Given the description of an element on the screen output the (x, y) to click on. 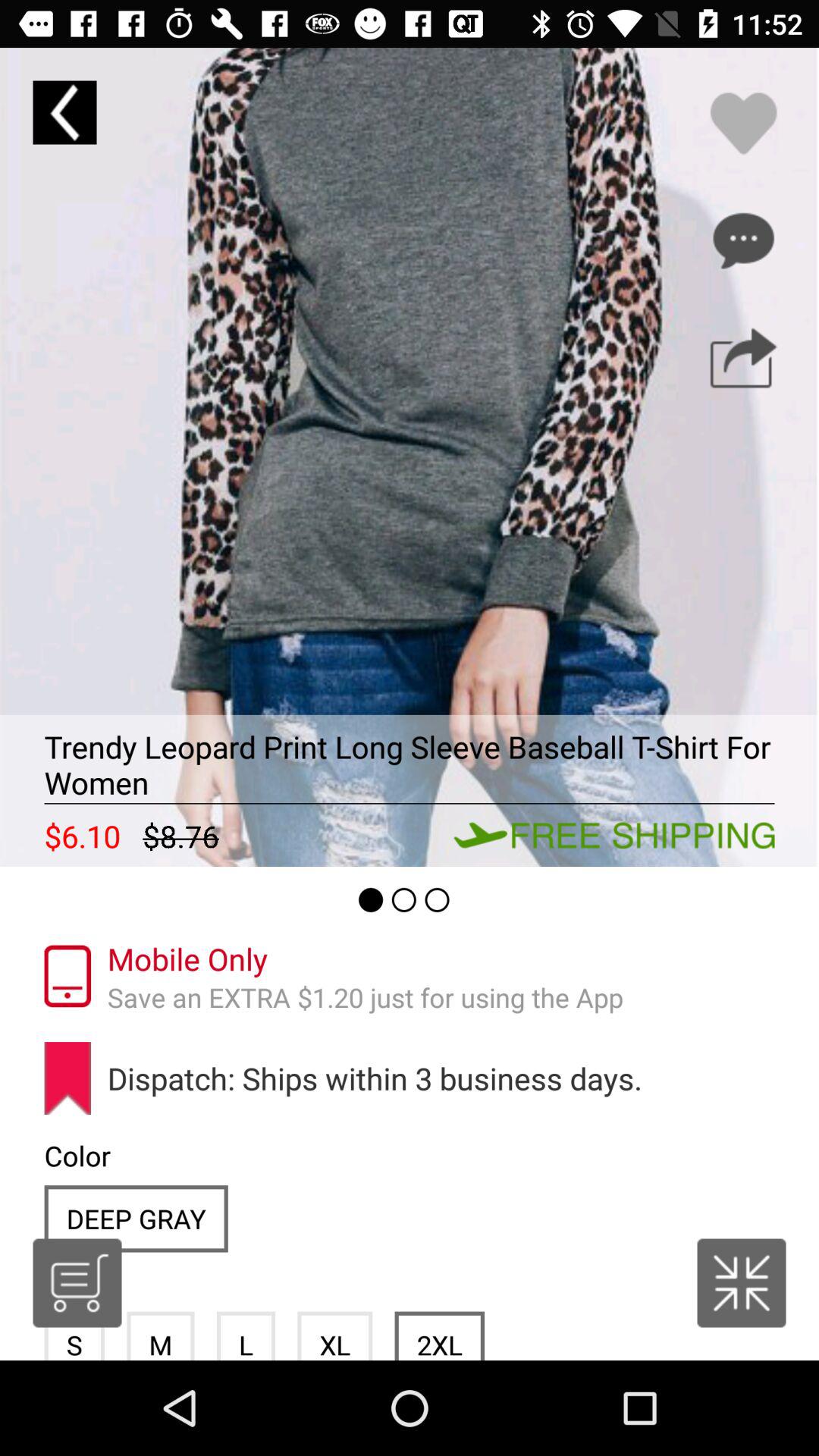
favorite it (743, 122)
